Given the description of an element on the screen output the (x, y) to click on. 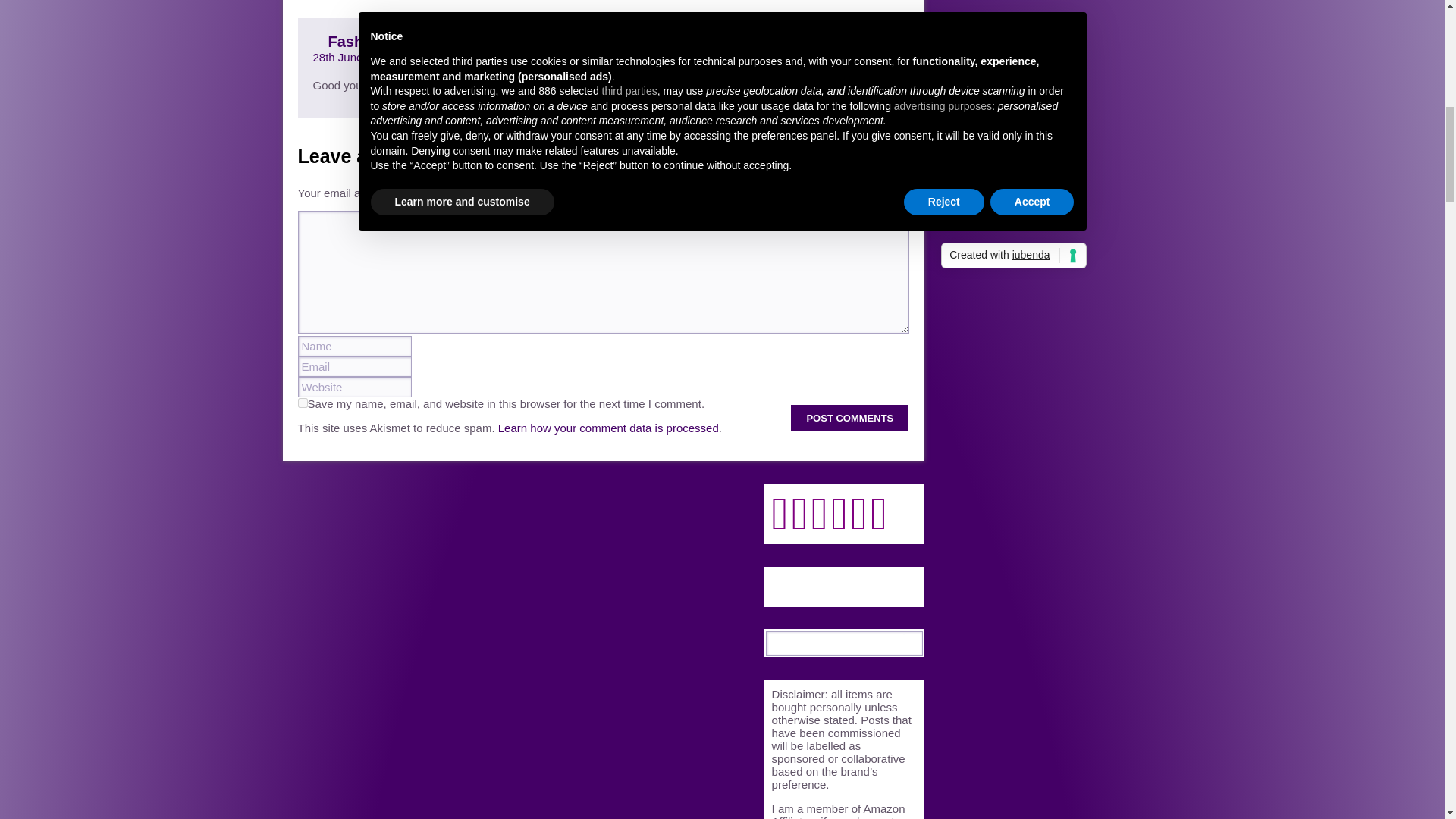
REPLY (875, 40)
Search (912, 641)
Post Comments (849, 417)
yes (302, 402)
Post Comments (849, 417)
Learn how your comment data is processed (608, 427)
Fashion and Style Police (416, 41)
28th June 2017 at 2:27 pm (379, 56)
Search (912, 641)
